Given the description of an element on the screen output the (x, y) to click on. 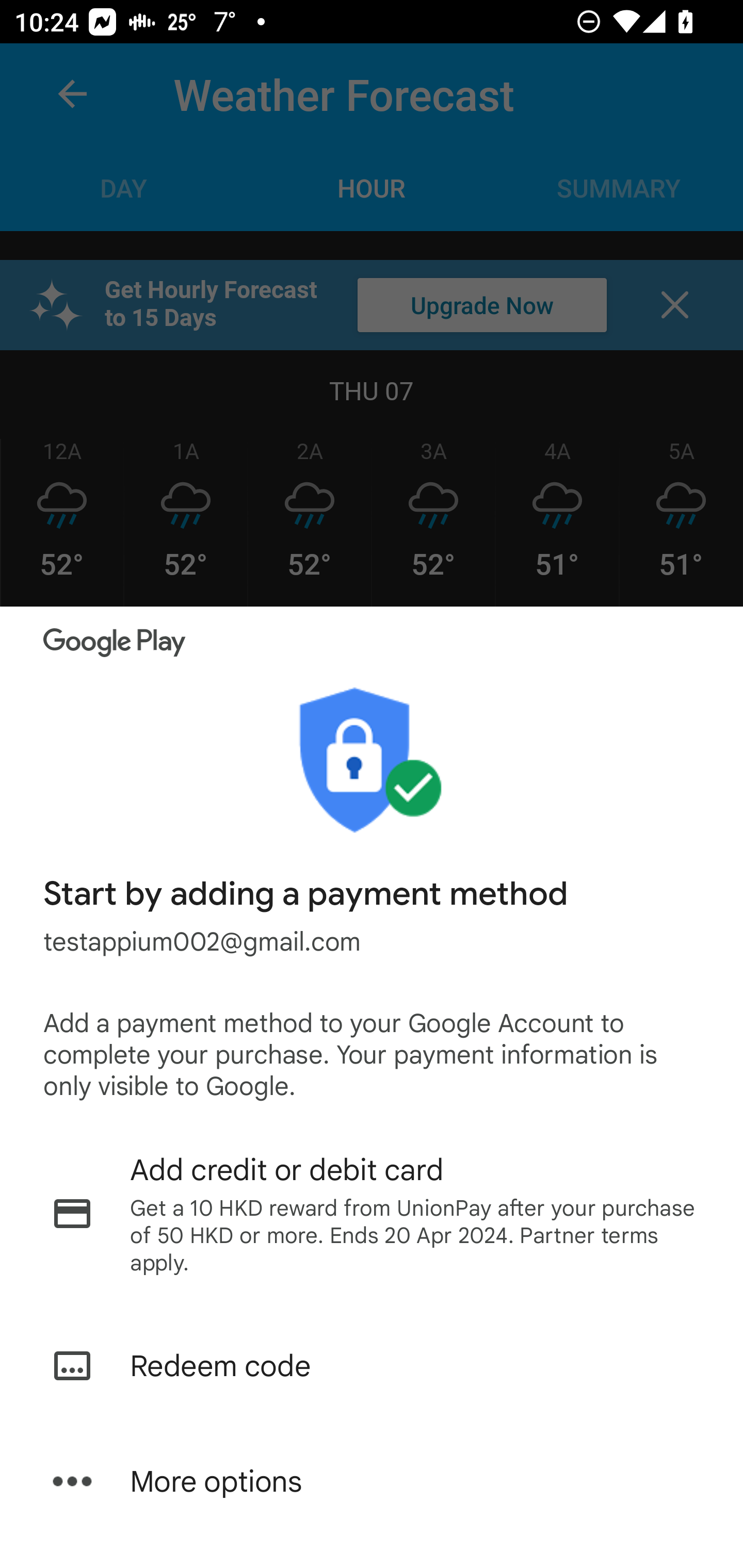
Redeem code (371, 1365)
More options (371, 1481)
